Given the description of an element on the screen output the (x, y) to click on. 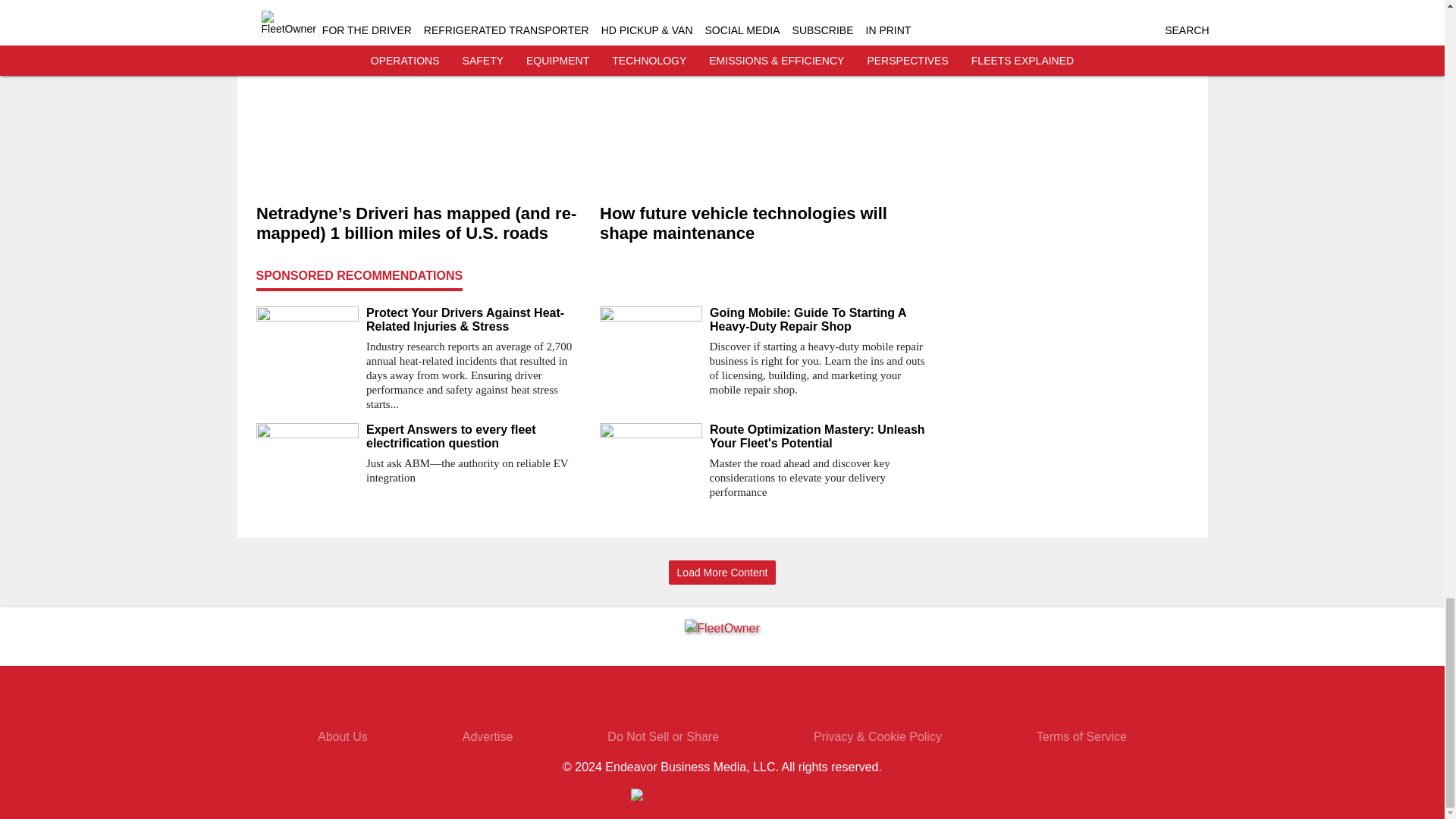
How future vehicle technologies will shape maintenance (764, 223)
Going Mobile: Guide To Starting A Heavy-Duty Repair Shop (820, 319)
